Given the description of an element on the screen output the (x, y) to click on. 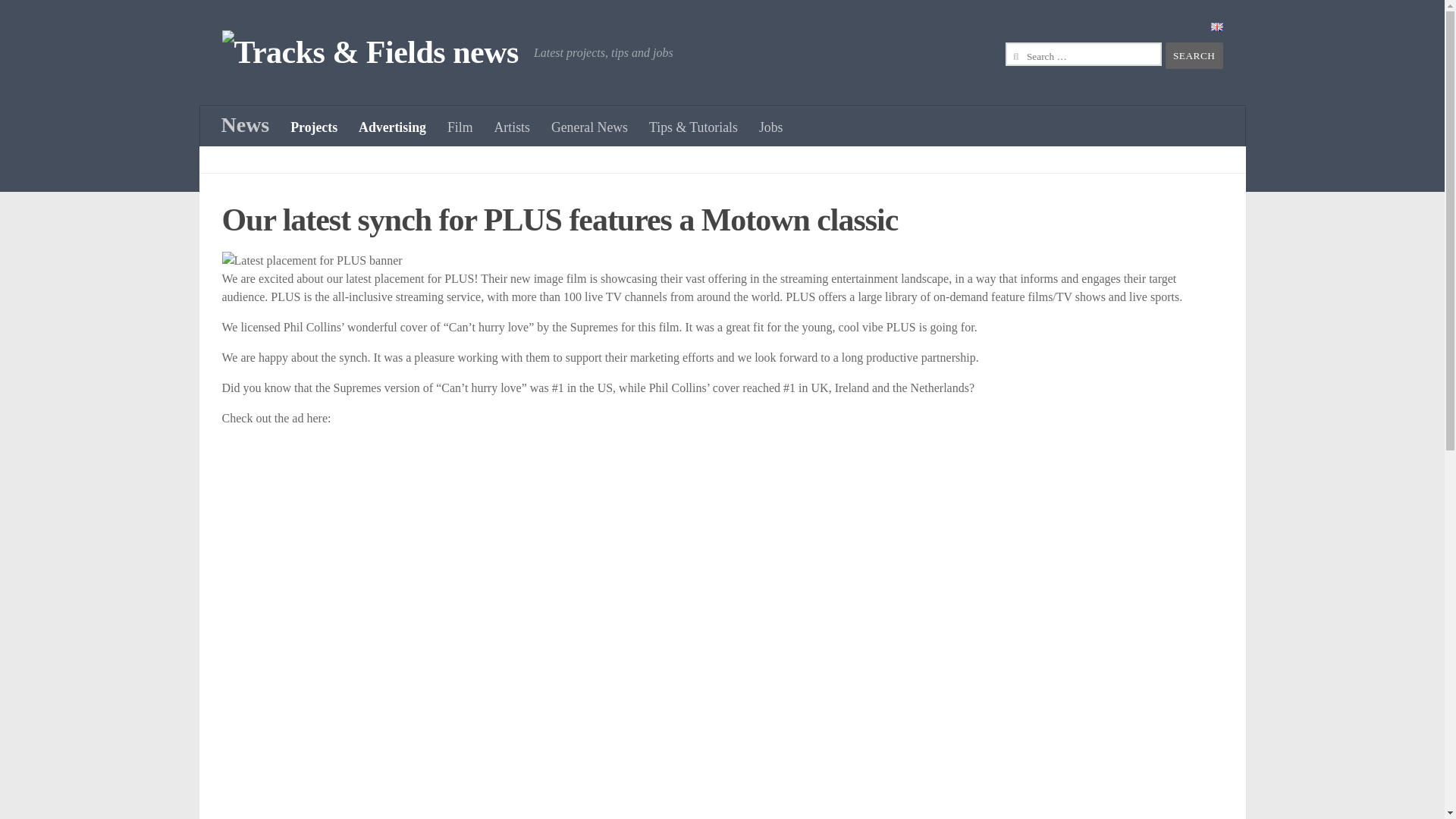
General News (589, 127)
Search (1194, 55)
Film (459, 127)
Projects (313, 127)
Artists (511, 127)
Skip to content (59, 20)
Advertising (391, 127)
Search (1194, 55)
Search (1194, 55)
News (246, 125)
Jobs (770, 127)
